Given the description of an element on the screen output the (x, y) to click on. 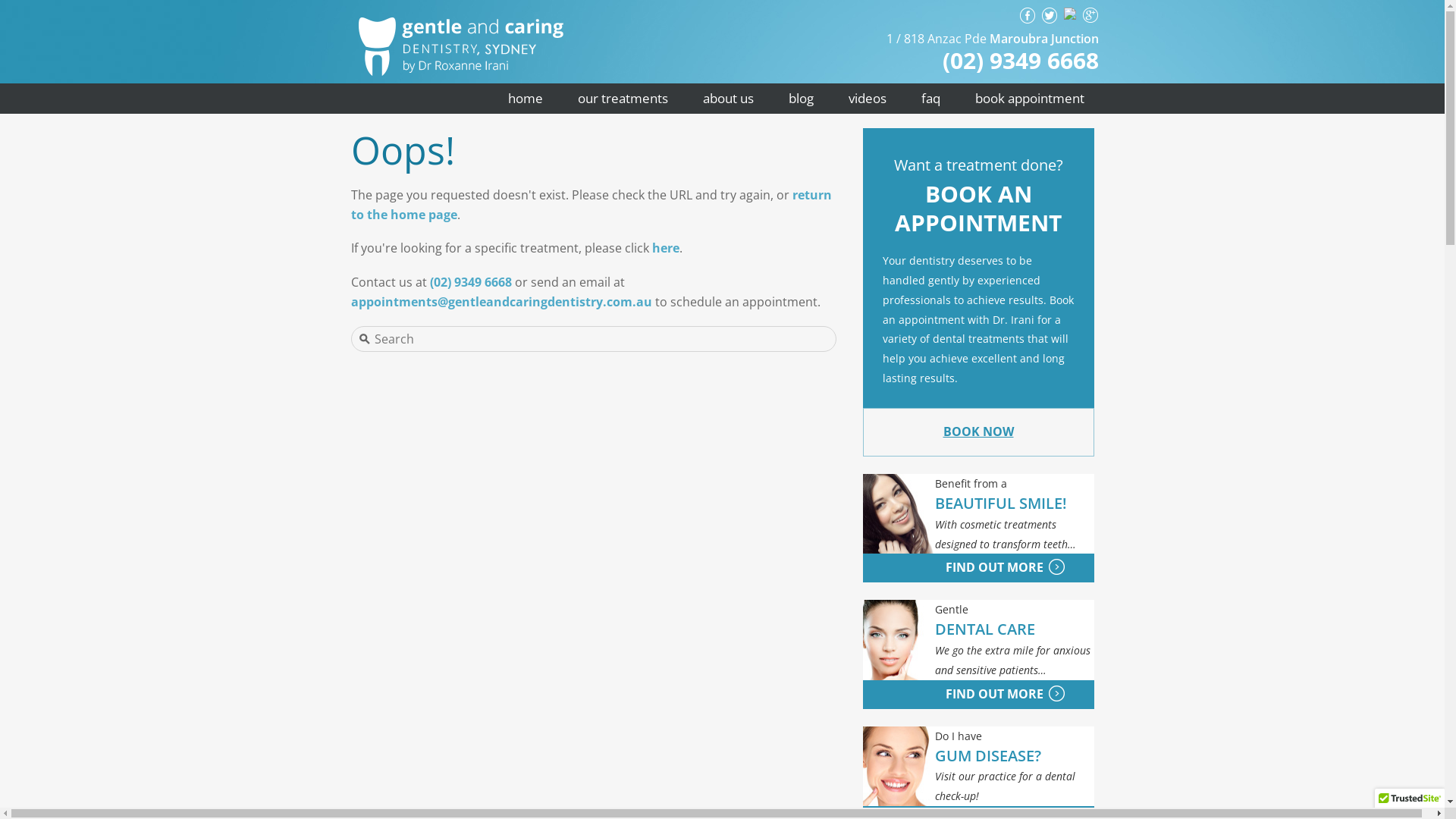
TrustedSite Certified Element type: hover (1409, 802)
appointments@gentleandcaringdentistry.com.au Element type: text (500, 301)
about us Element type: text (728, 98)
Dentist in Maroubra | Sydney Element type: hover (459, 16)
return to the home page Element type: text (590, 204)
videos Element type: text (867, 98)
FIND OUT MORE Element type: text (952, 693)
Submit Element type: text (43, 10)
(02) 9349 6668 Element type: text (470, 281)
faq Element type: text (930, 98)
blog Element type: text (800, 98)
(02) 9349 6668 Element type: text (1020, 59)
FIND OUT MORE Element type: text (952, 566)
home Element type: text (524, 98)
book appointment Element type: text (1029, 98)
our treatments Element type: text (621, 98)
here Element type: text (665, 247)
Search Element type: hover (567, 338)
BOOK NOW Element type: text (978, 431)
